Given the description of an element on the screen output the (x, y) to click on. 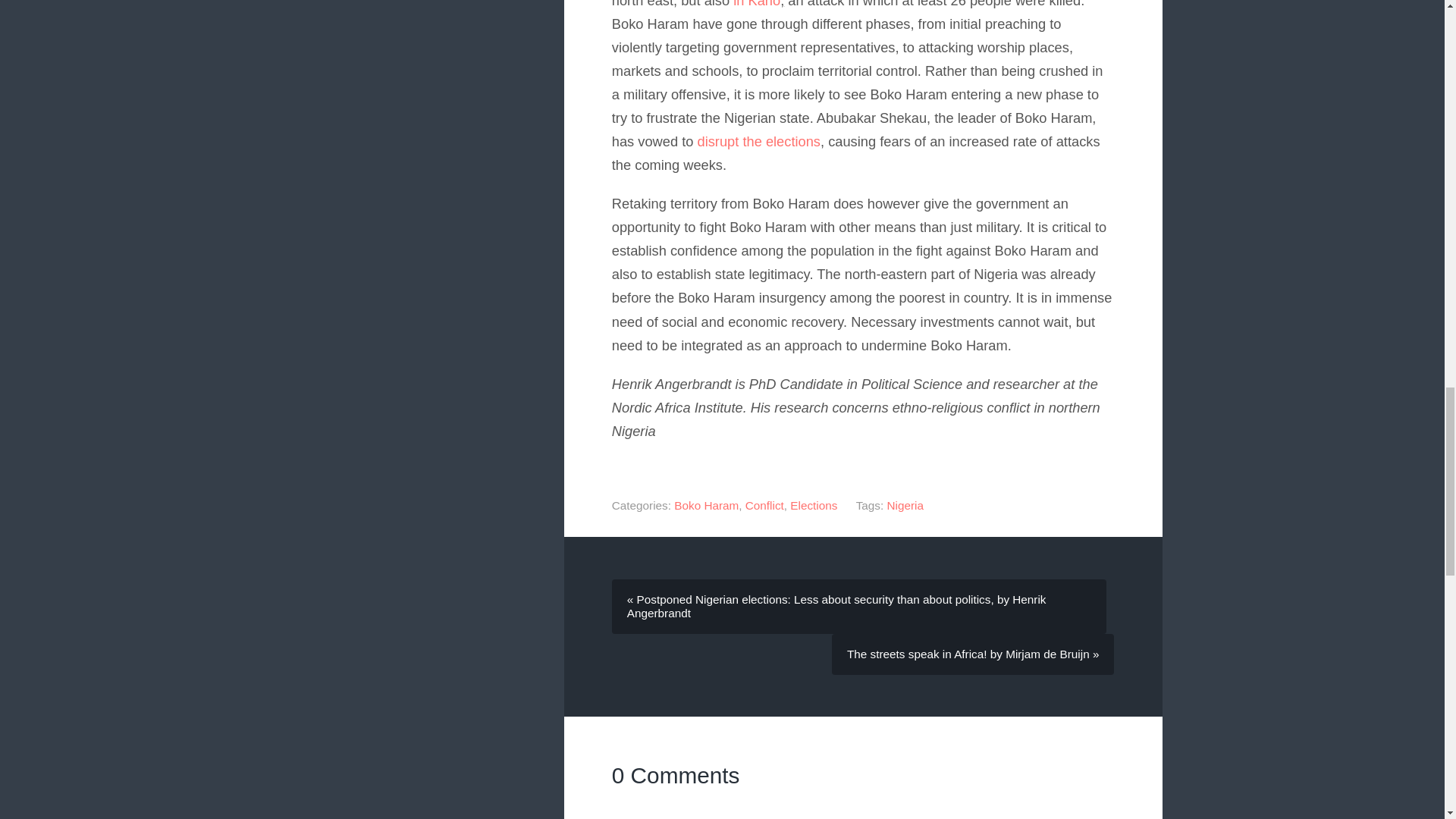
Nigeria (904, 504)
Elections (813, 504)
Next post: The streets speak in Africa! by Mirjam de Bruijn (972, 653)
Conflict (764, 504)
Boko Haram (706, 504)
disrupt the elections (759, 141)
in Kano (756, 4)
